Given the description of an element on the screen output the (x, y) to click on. 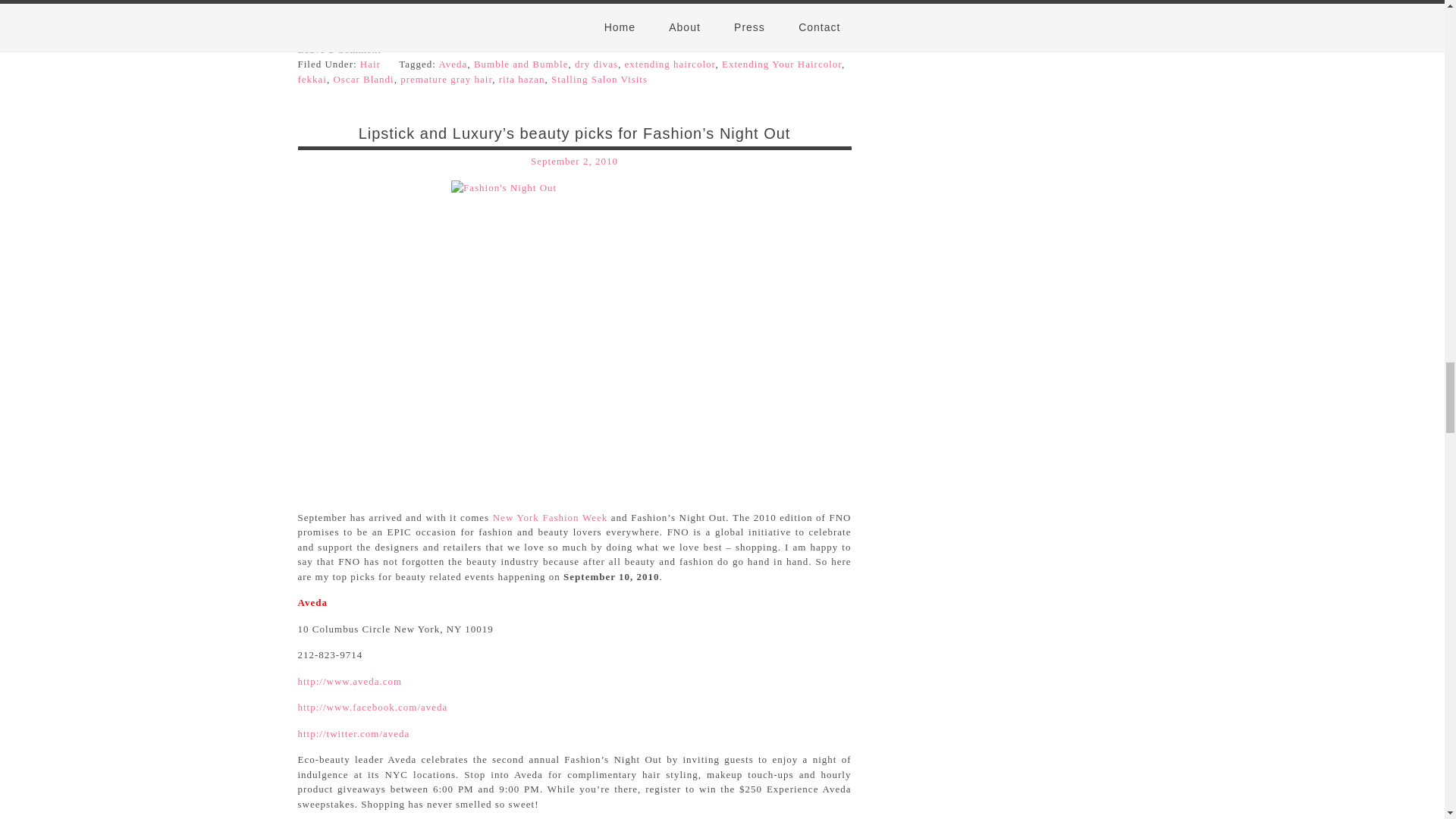
Extending Your Haircolor (781, 63)
Leave a Comment (338, 49)
Aveda (452, 63)
Oscar Blandi (363, 78)
dry divas (596, 63)
rita hazan (521, 78)
fekkai (311, 78)
premature gray hair (446, 78)
extending haircolor (670, 63)
Hair (369, 63)
Bumble and Bumble (521, 63)
